Given the description of an element on the screen output the (x, y) to click on. 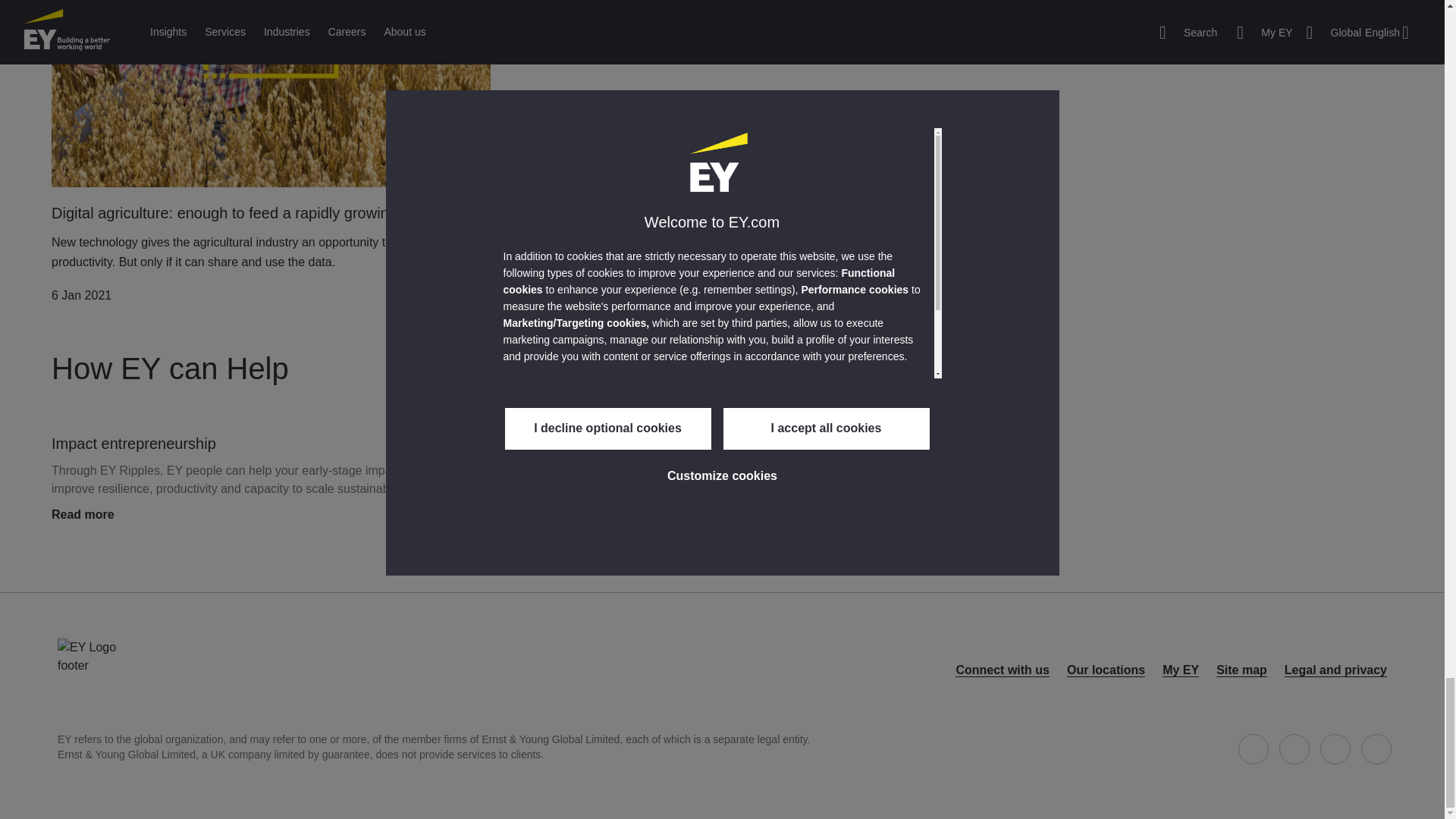
Open X profile (1294, 748)
Open Facebook profile (1252, 748)
Open LinkedIn profile (1335, 748)
